Given the description of an element on the screen output the (x, y) to click on. 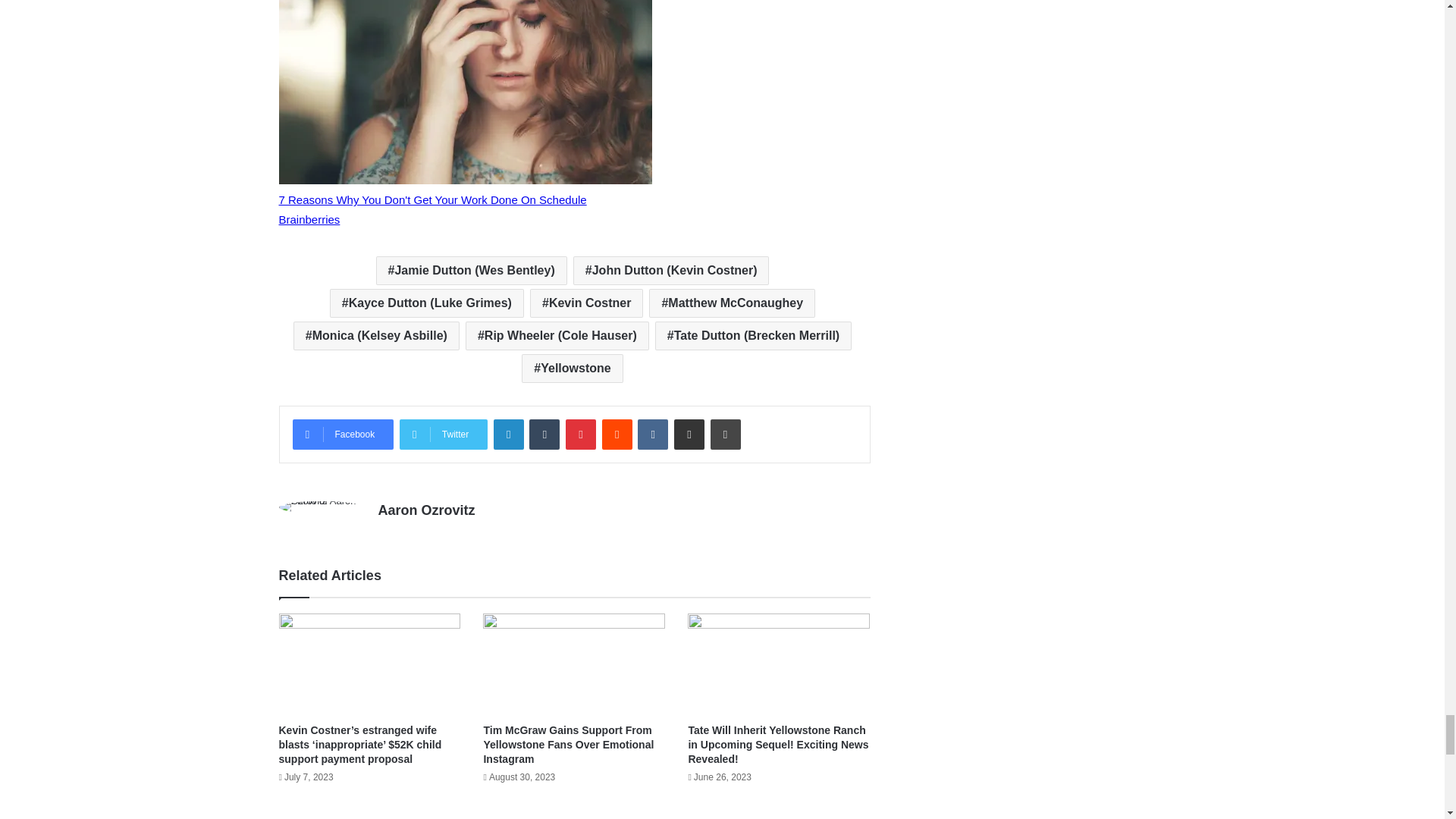
Facebook (343, 434)
Print (725, 434)
Matthew McConaughey (732, 303)
Pinterest (580, 434)
VKontakte (652, 434)
LinkedIn (508, 434)
Kevin Costner (586, 303)
Share via Email (689, 434)
Twitter (442, 434)
Pinterest (580, 434)
Yellowstone (572, 368)
Reddit (616, 434)
Tumblr (544, 434)
Twitter (442, 434)
Reddit (616, 434)
